Given the description of an element on the screen output the (x, y) to click on. 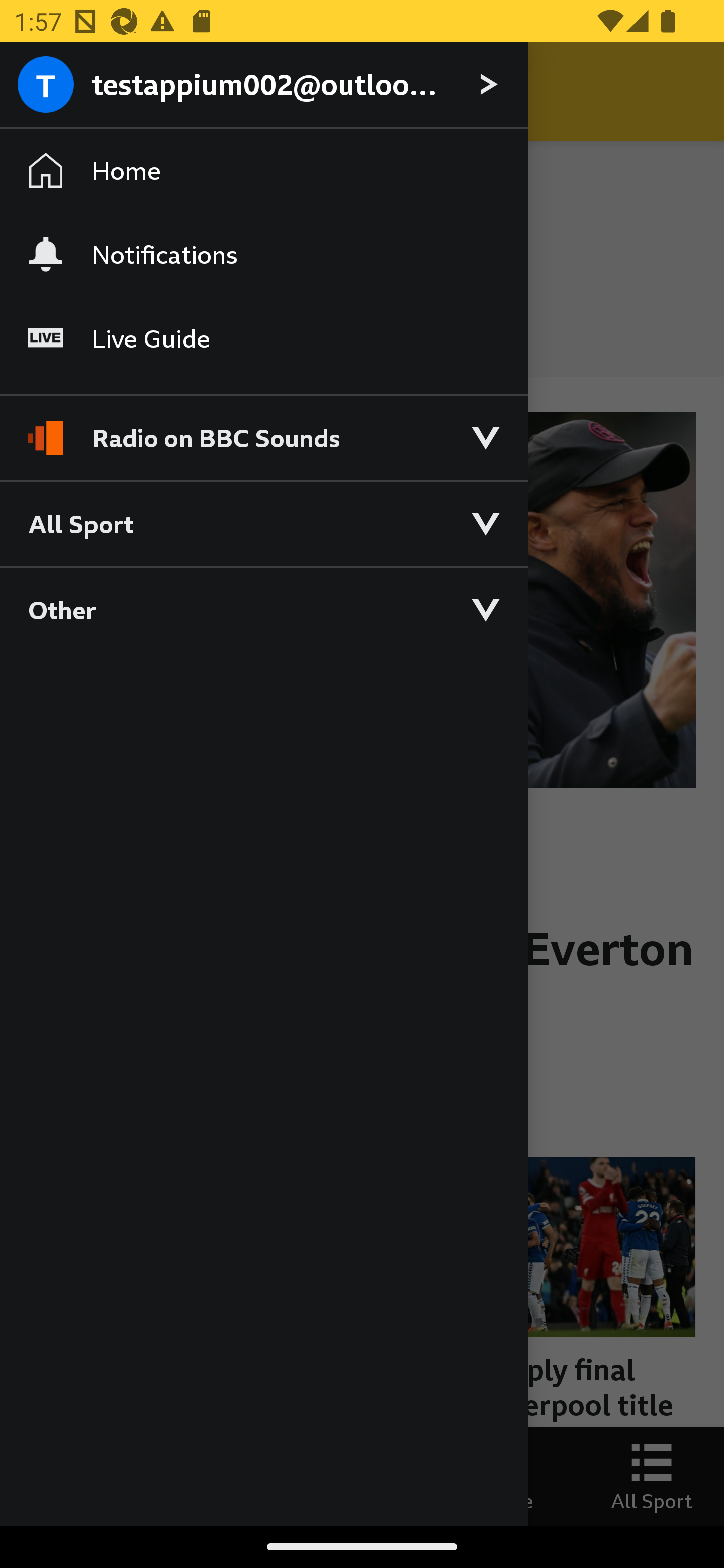
testappium002@outlook.com (263, 85)
Home (263, 170)
Notifications (263, 253)
Live Guide (263, 338)
Radio on BBC Sounds (263, 429)
All Sport (263, 522)
Other (263, 609)
